Given the description of an element on the screen output the (x, y) to click on. 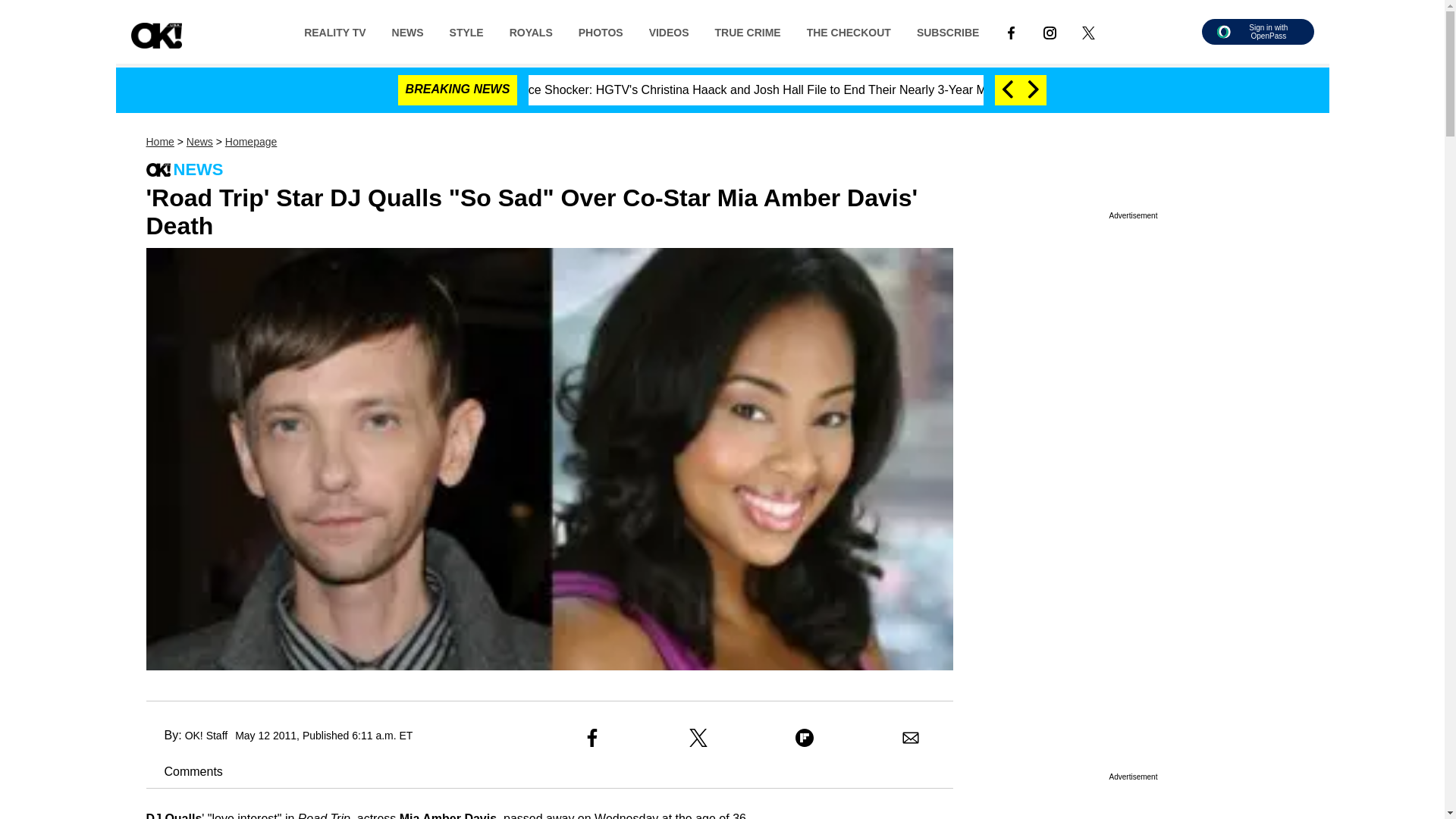
TRUE CRIME (747, 31)
News (199, 141)
VIDEOS (668, 31)
Link to Facebook (1010, 31)
Comments (183, 771)
STYLE (466, 31)
Share to Flipboard (803, 737)
LINK TO X (1087, 32)
Share to Facebook (590, 737)
SUBSCRIBE (947, 31)
Share to Email (909, 737)
THE CHECKOUT (848, 31)
Link to Instagram (1049, 31)
LINK TO FACEBOOK (1010, 32)
